Given the description of an element on the screen output the (x, y) to click on. 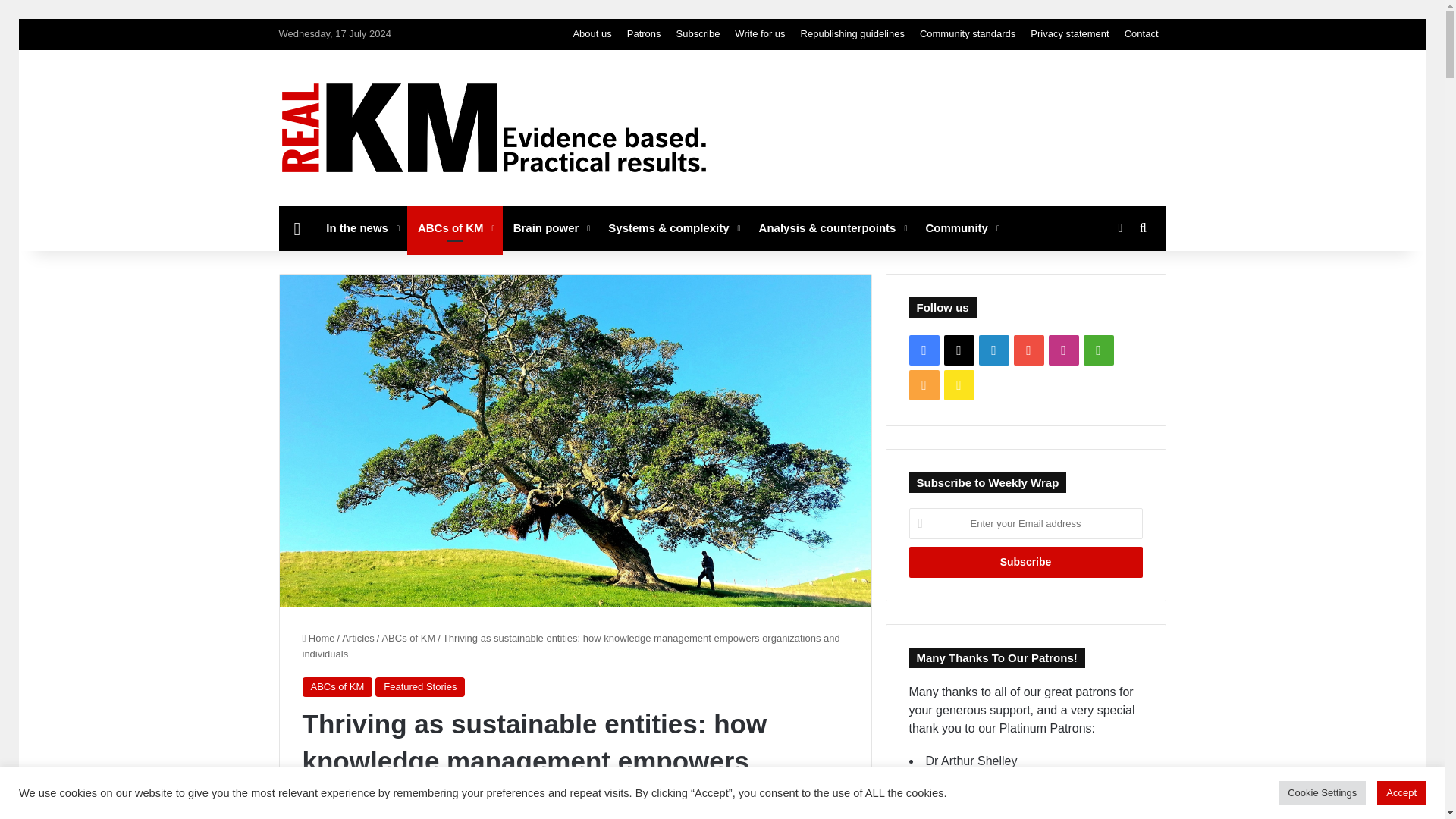
ABCs of KM (454, 227)
Privacy statement (1069, 33)
Subscribe (698, 33)
Home (297, 227)
Republishing guidelines (852, 33)
Contact (1141, 33)
Write for us (759, 33)
In the news (361, 227)
Brain power (550, 227)
RealKM Magazine (494, 127)
About us (591, 33)
Subscribe (1025, 562)
Community standards (967, 33)
Switch skin (1119, 227)
Patrons (644, 33)
